Given the description of an element on the screen output the (x, y) to click on. 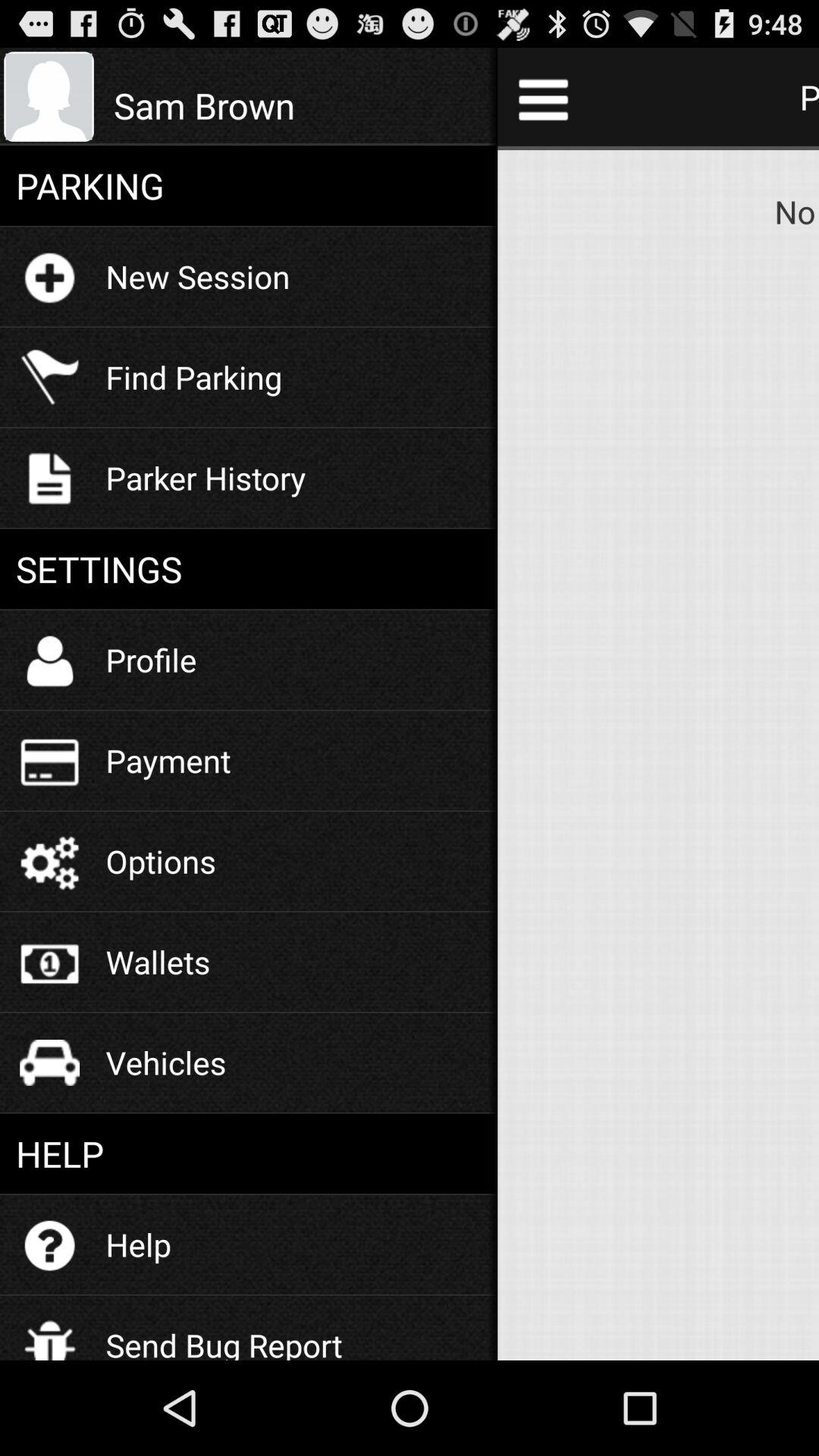
tap settings icon (248, 568)
